Given the description of an element on the screen output the (x, y) to click on. 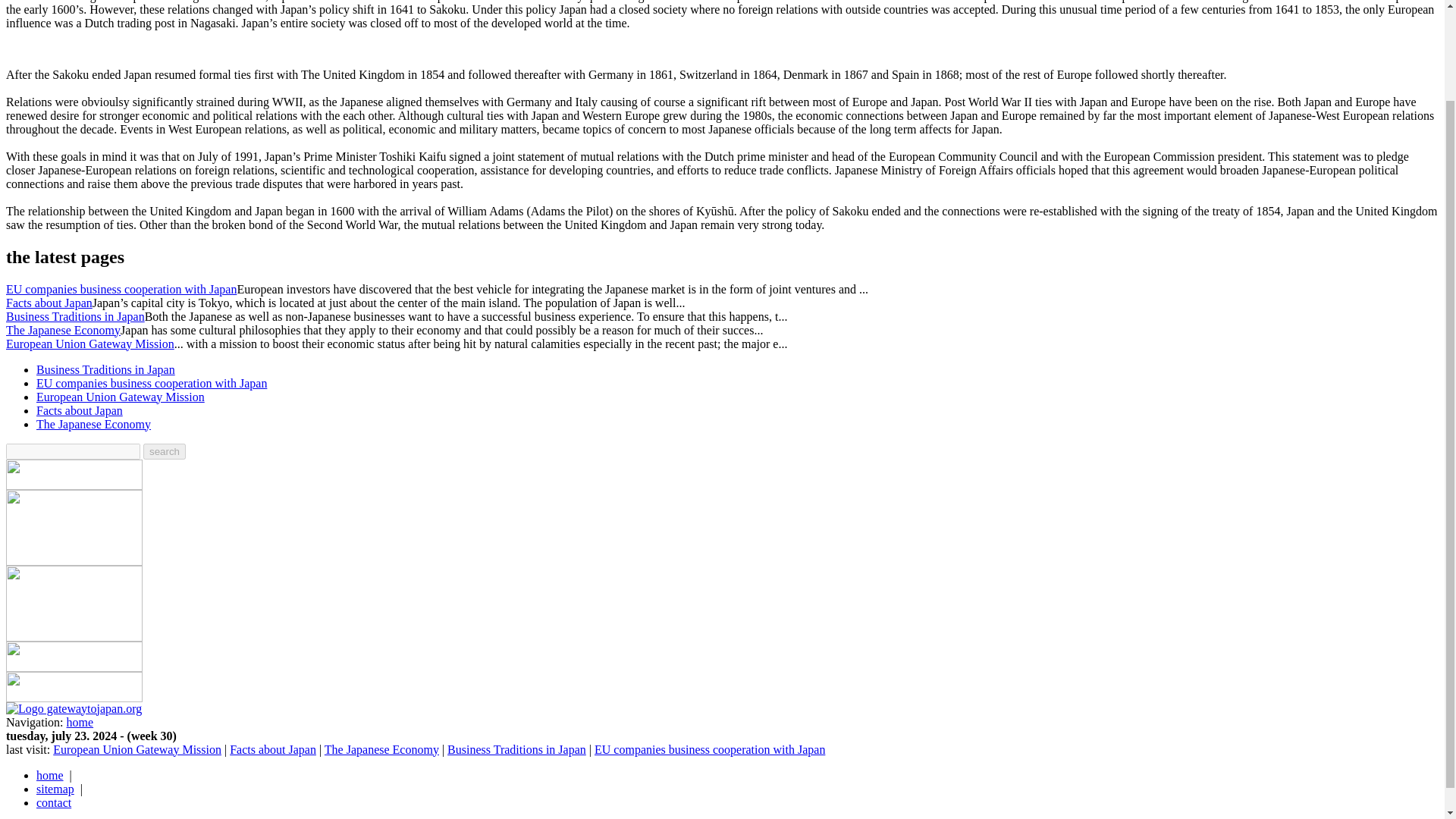
European Union Gateway Mission (120, 396)
Facts about Japan (272, 748)
Facts about Japan (49, 302)
Business Traditions in Japan (74, 316)
EU companies business cooperation with Japan (120, 288)
gatewaytojapan.org (73, 708)
sitemap (55, 788)
contact (53, 802)
European Union Gateway Mission (136, 748)
The Japanese Economy (93, 423)
European Union Gateway Mission (120, 396)
EU companies business cooperation with Japan (709, 748)
European Union Gateway Mission (89, 343)
European Union Gateway Mission (89, 343)
Facts about Japan (272, 748)
